Given the description of an element on the screen output the (x, y) to click on. 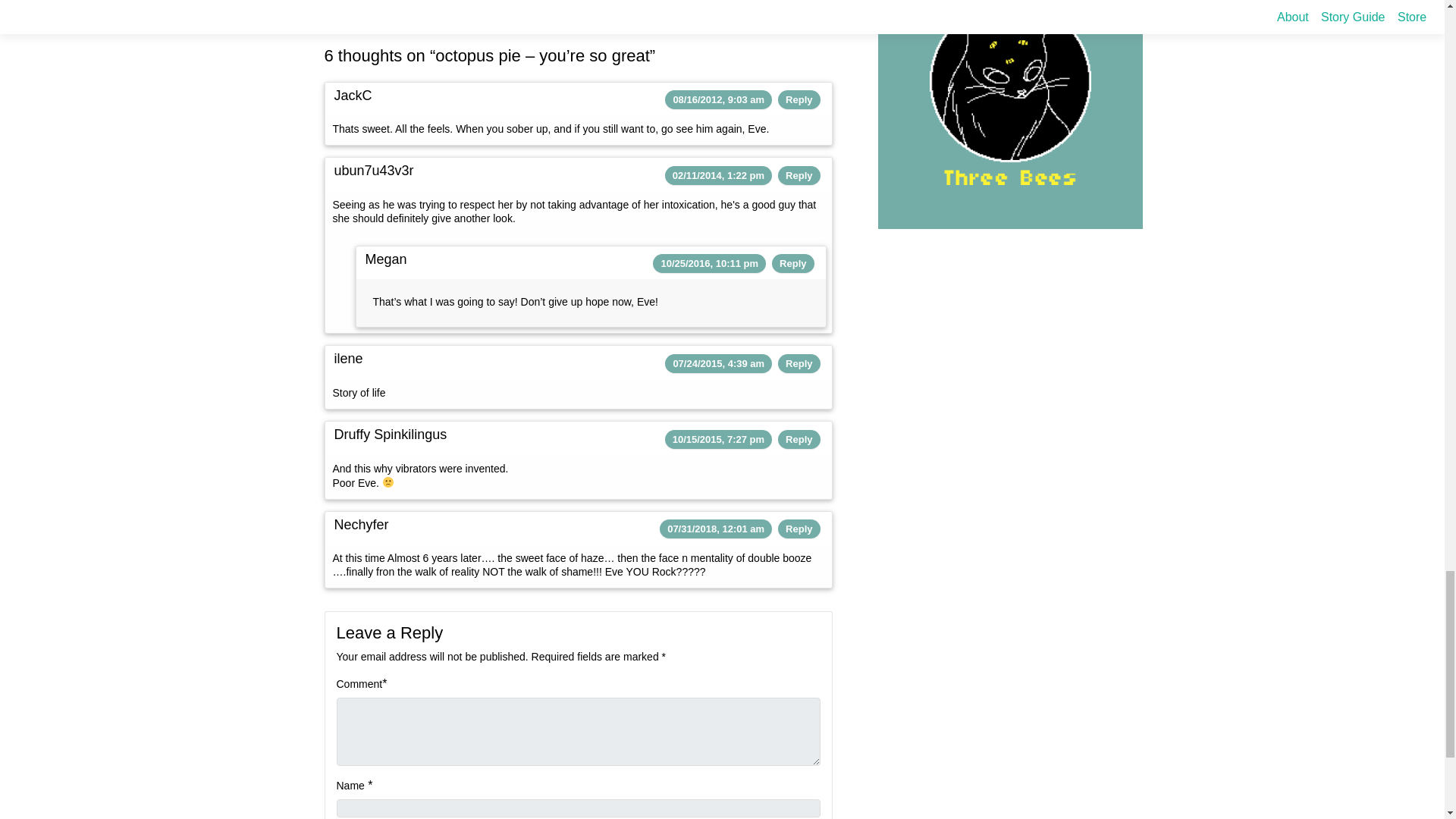
Reply (799, 528)
Reply (799, 363)
Reply (799, 174)
Reply (792, 263)
Reply (799, 439)
Reply (799, 99)
